Given the description of an element on the screen output the (x, y) to click on. 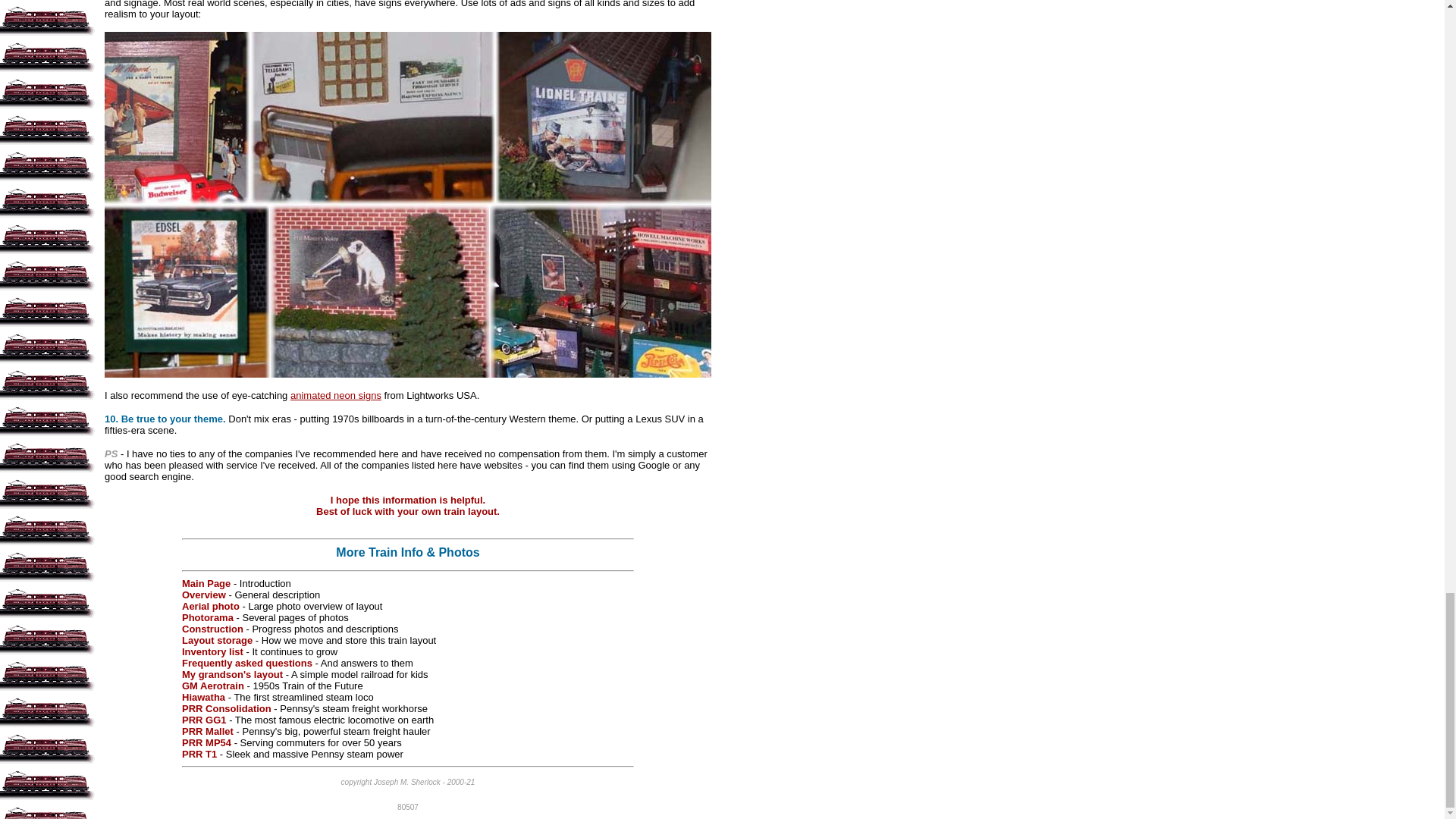
Construction (212, 628)
PRR Consolidation (226, 708)
Main Page (206, 583)
PRR T1 (199, 754)
animated neon signs (335, 395)
PRR GG1 (204, 719)
Photorama (207, 617)
Frequently asked questions (247, 663)
Layout storage (216, 640)
Overview (203, 594)
